Given the description of an element on the screen output the (x, y) to click on. 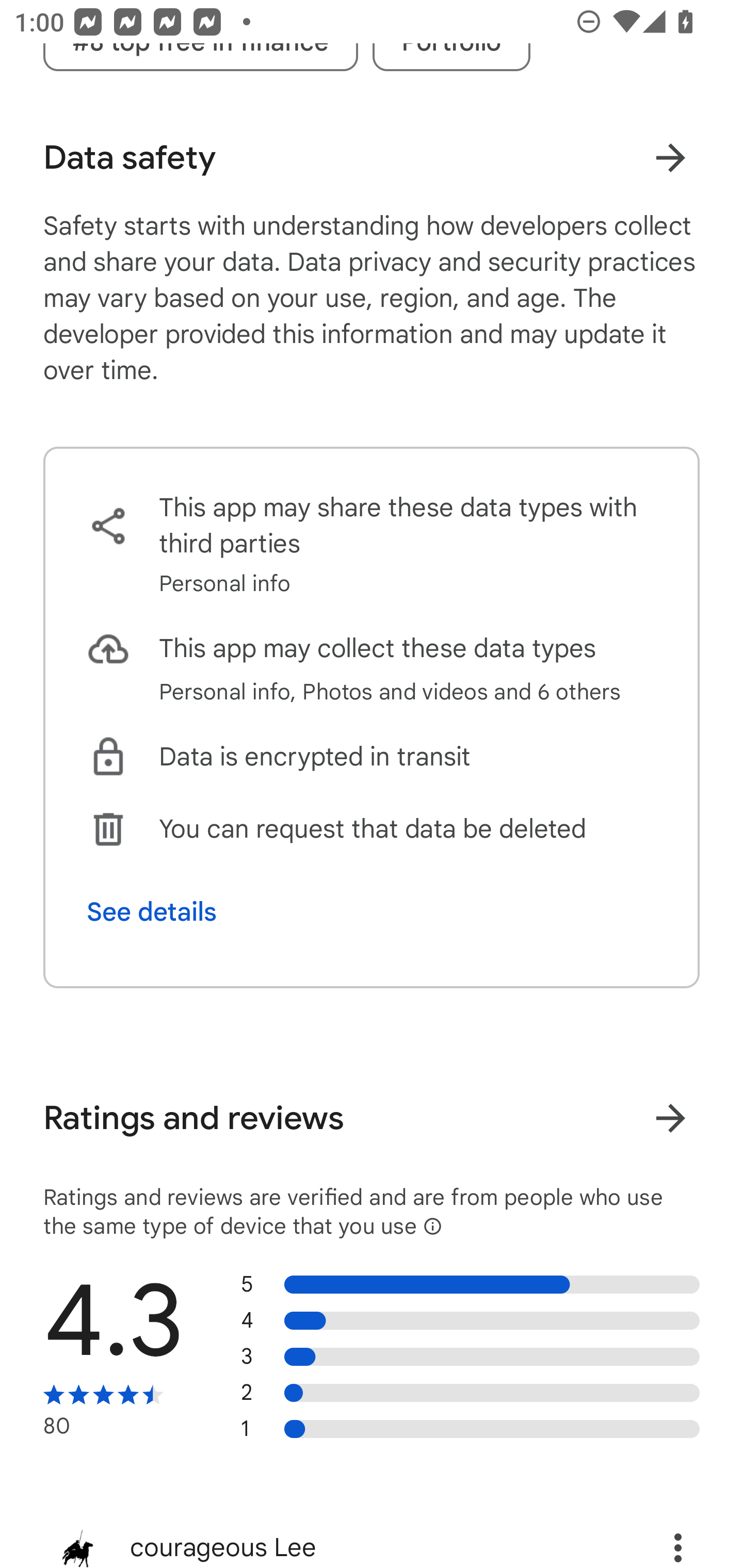
Data safety Learn more about data safety (371, 157)
Learn more about data safety (670, 157)
See details (151, 912)
Ratings and reviews View all ratings and reviews (371, 1117)
View all ratings and reviews (670, 1118)
Options (655, 1536)
